Given the description of an element on the screen output the (x, y) to click on. 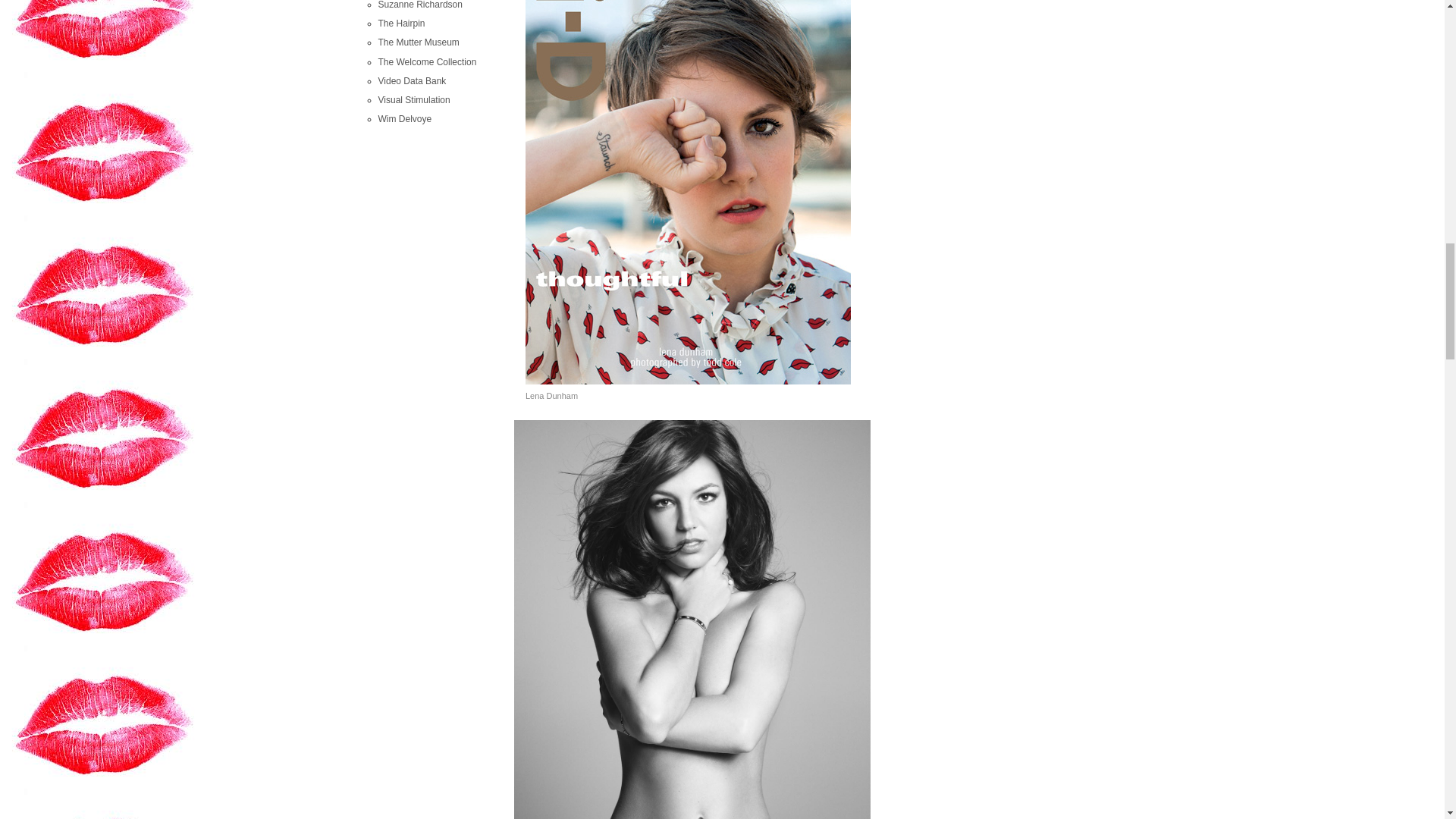
website for curious bodies (426, 61)
